Given the description of an element on the screen output the (x, y) to click on. 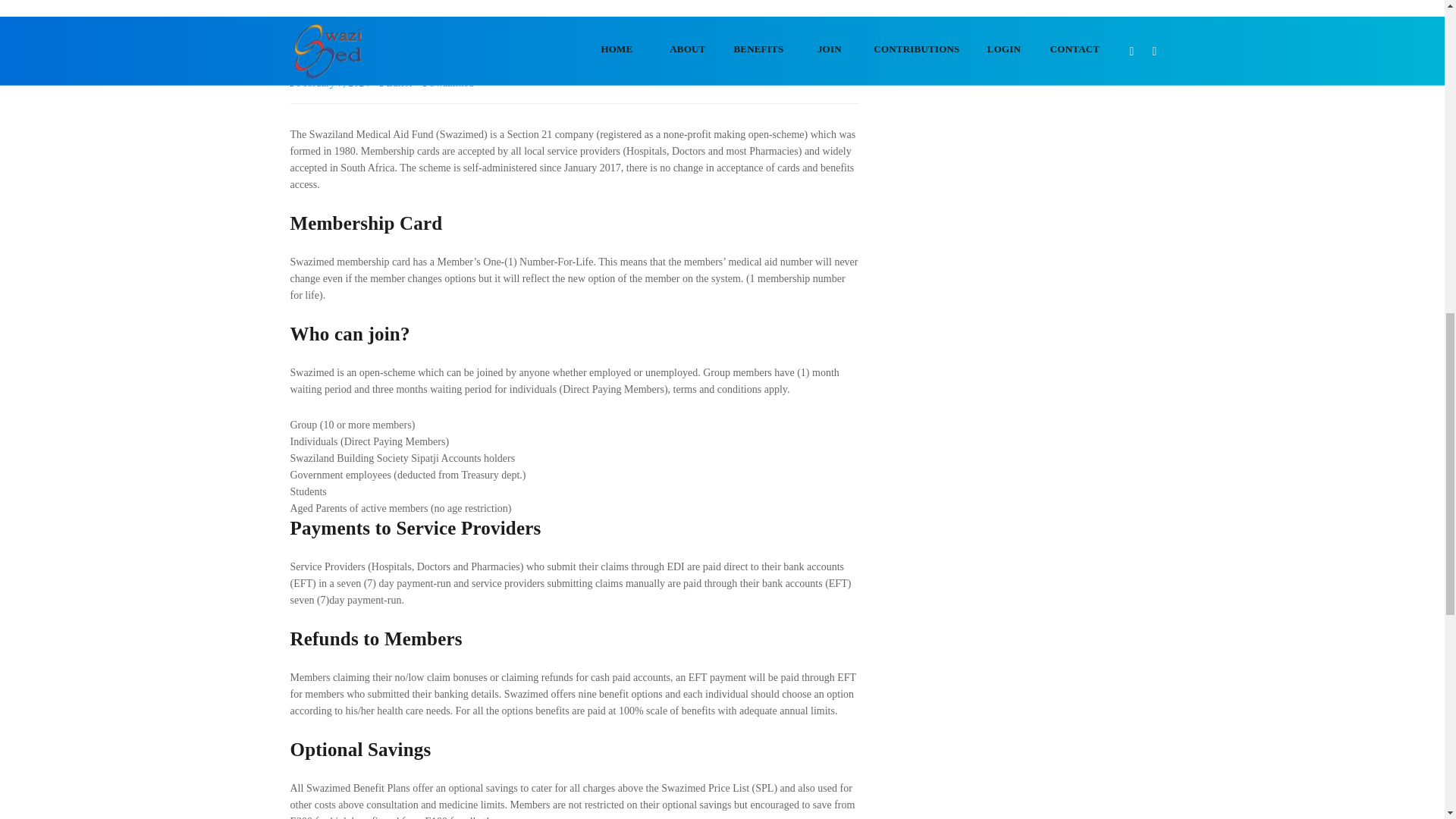
Swazimed (451, 82)
